Given the description of an element on the screen output the (x, y) to click on. 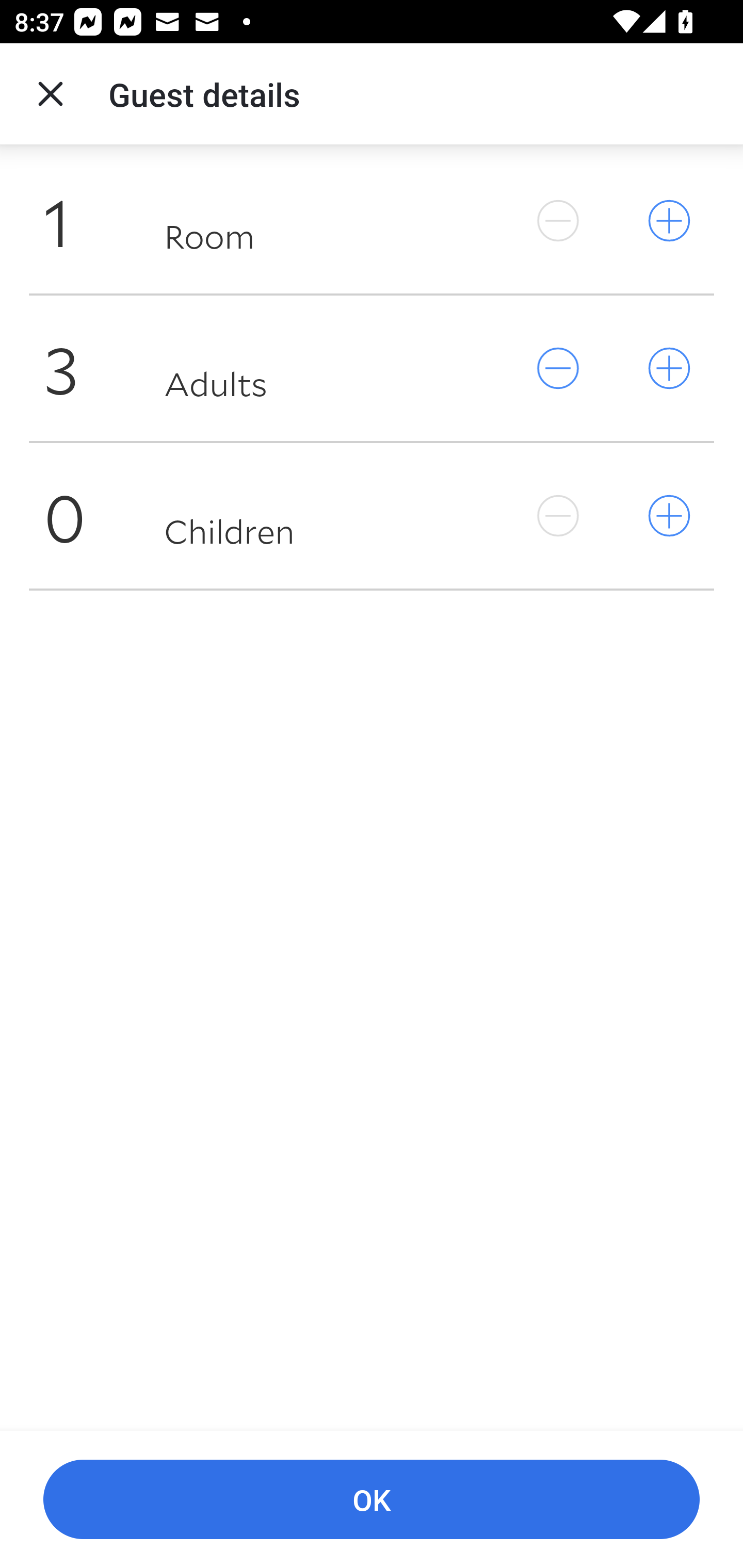
OK (371, 1499)
